Given the description of an element on the screen output the (x, y) to click on. 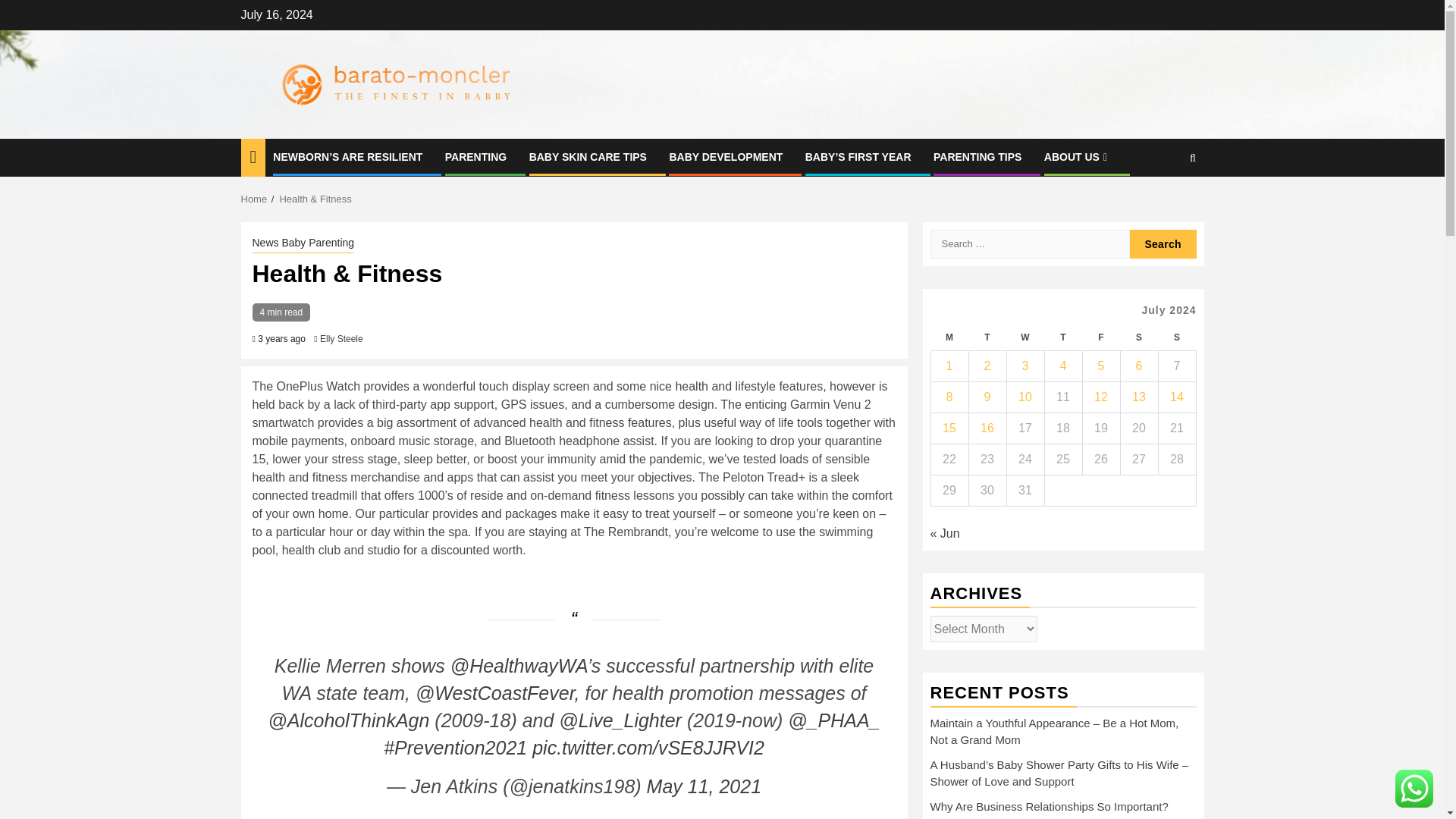
News Baby Parenting (302, 244)
Wednesday (1024, 337)
BABY DEVELOPMENT (725, 156)
PARENTING (475, 156)
Search (1162, 244)
Search (1162, 244)
ABOUT US (1076, 156)
Elly Steele (341, 338)
May 11, 2021 (703, 785)
Sunday (1176, 337)
PARENTING TIPS (977, 156)
Thursday (1062, 337)
Monday (949, 337)
Home (254, 198)
Saturday (1138, 337)
